Given the description of an element on the screen output the (x, y) to click on. 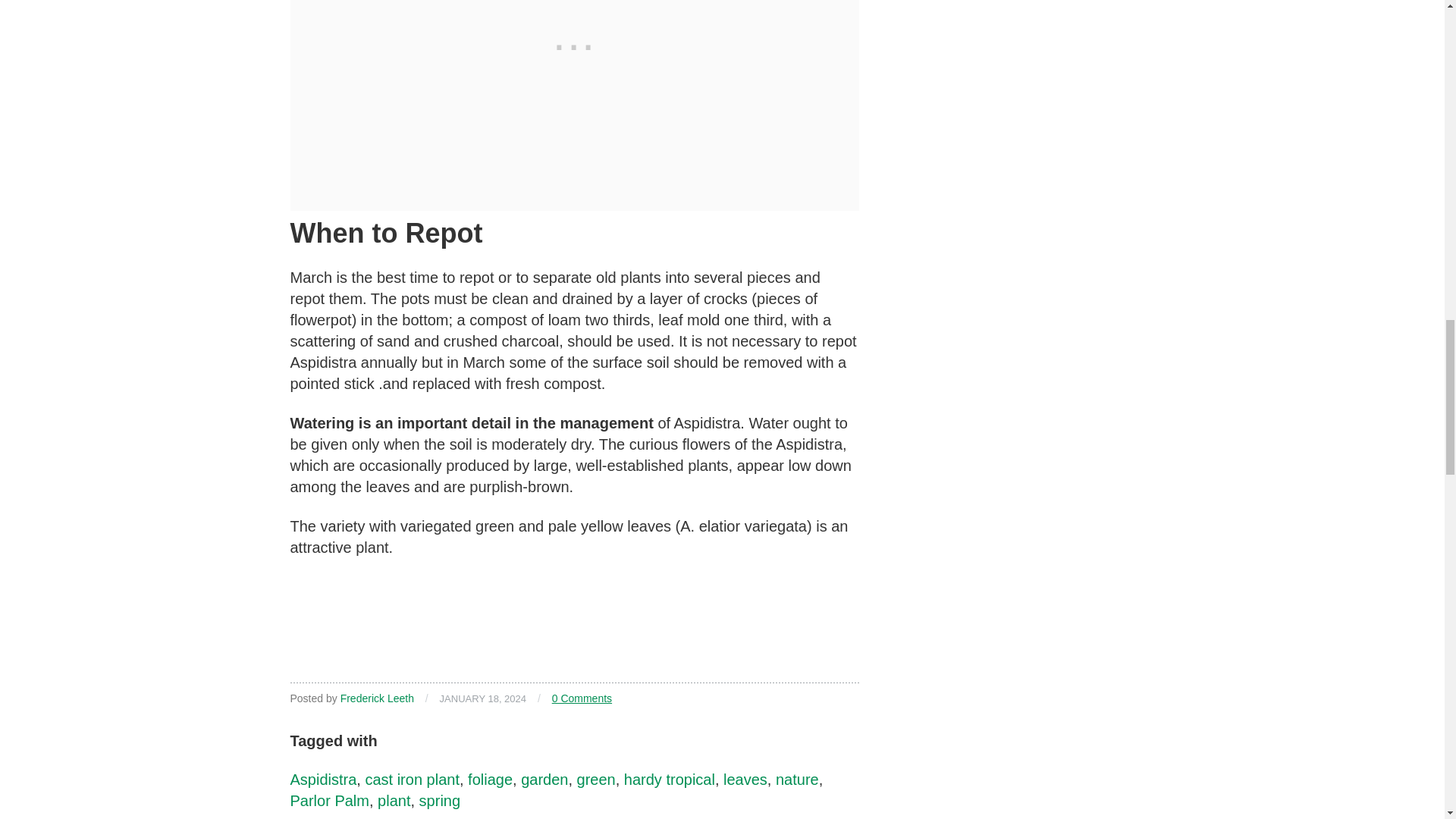
Posts by Frederick Leeth (376, 698)
